Given the description of an element on the screen output the (x, y) to click on. 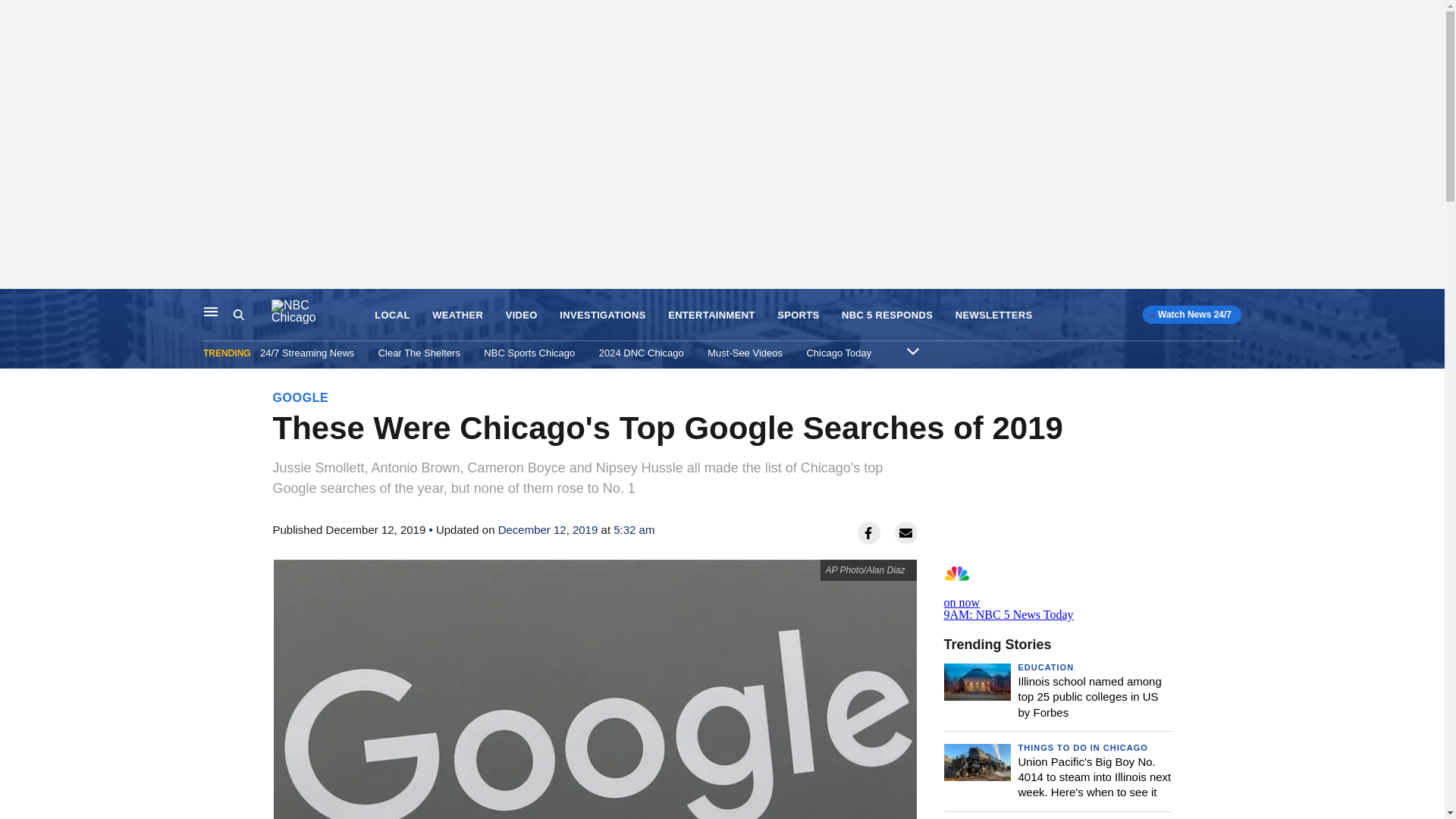
Must-See Videos (745, 352)
ENTERTAINMENT (711, 315)
VIDEO (521, 315)
INVESTIGATIONS (602, 315)
LOCAL (391, 315)
Skip to content (16, 304)
Search (238, 314)
Expand (912, 350)
Main Navigation (210, 311)
2024 DNC Chicago (641, 352)
